Given the description of an element on the screen output the (x, y) to click on. 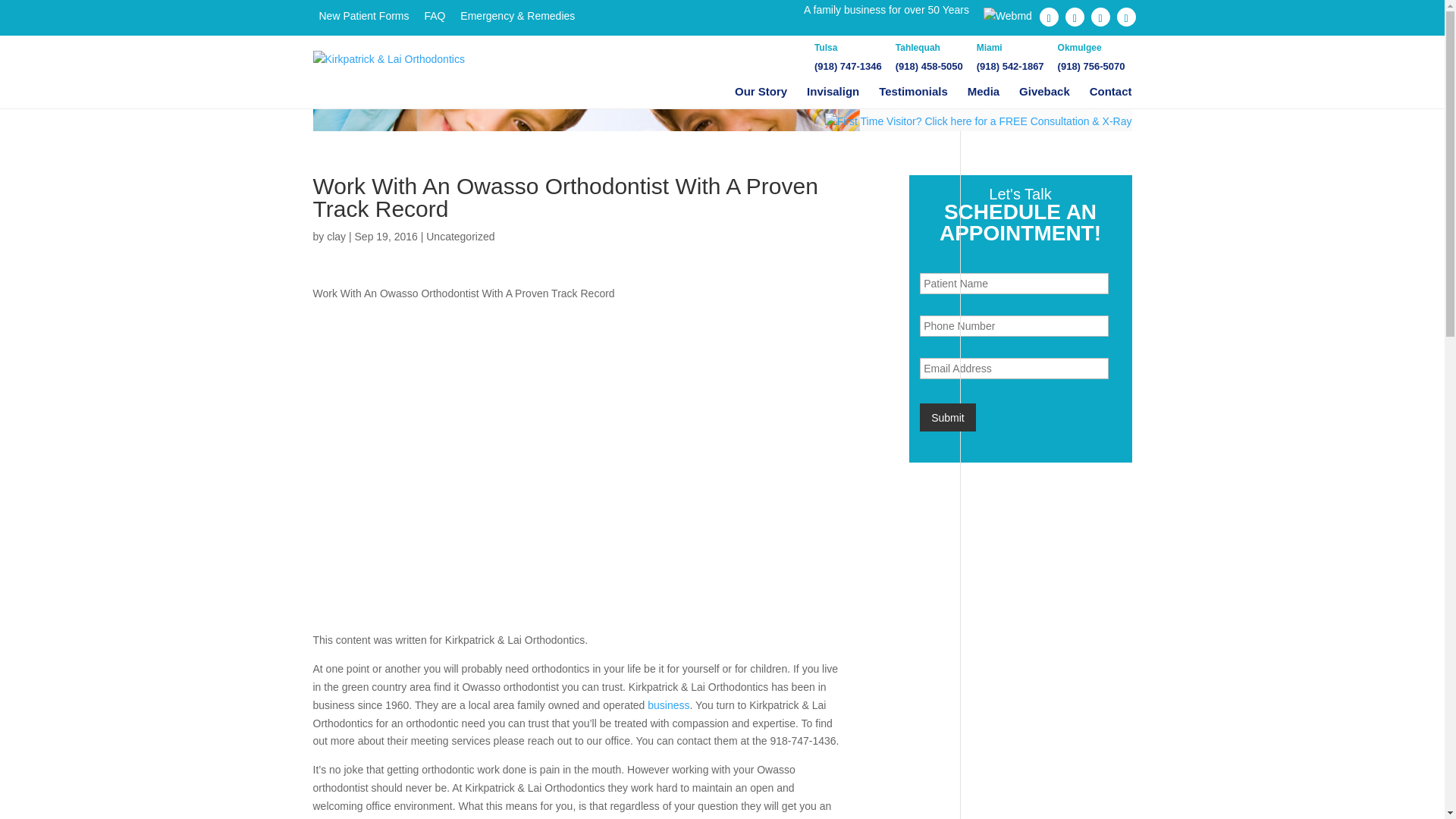
Our Story (761, 91)
business (667, 705)
Submit (947, 417)
Testimonials (913, 91)
Media (984, 91)
Contact (1110, 91)
Giveback (1044, 91)
Posts by clay (336, 236)
New Patient Forms (363, 15)
Submit (947, 417)
